Given the description of an element on the screen output the (x, y) to click on. 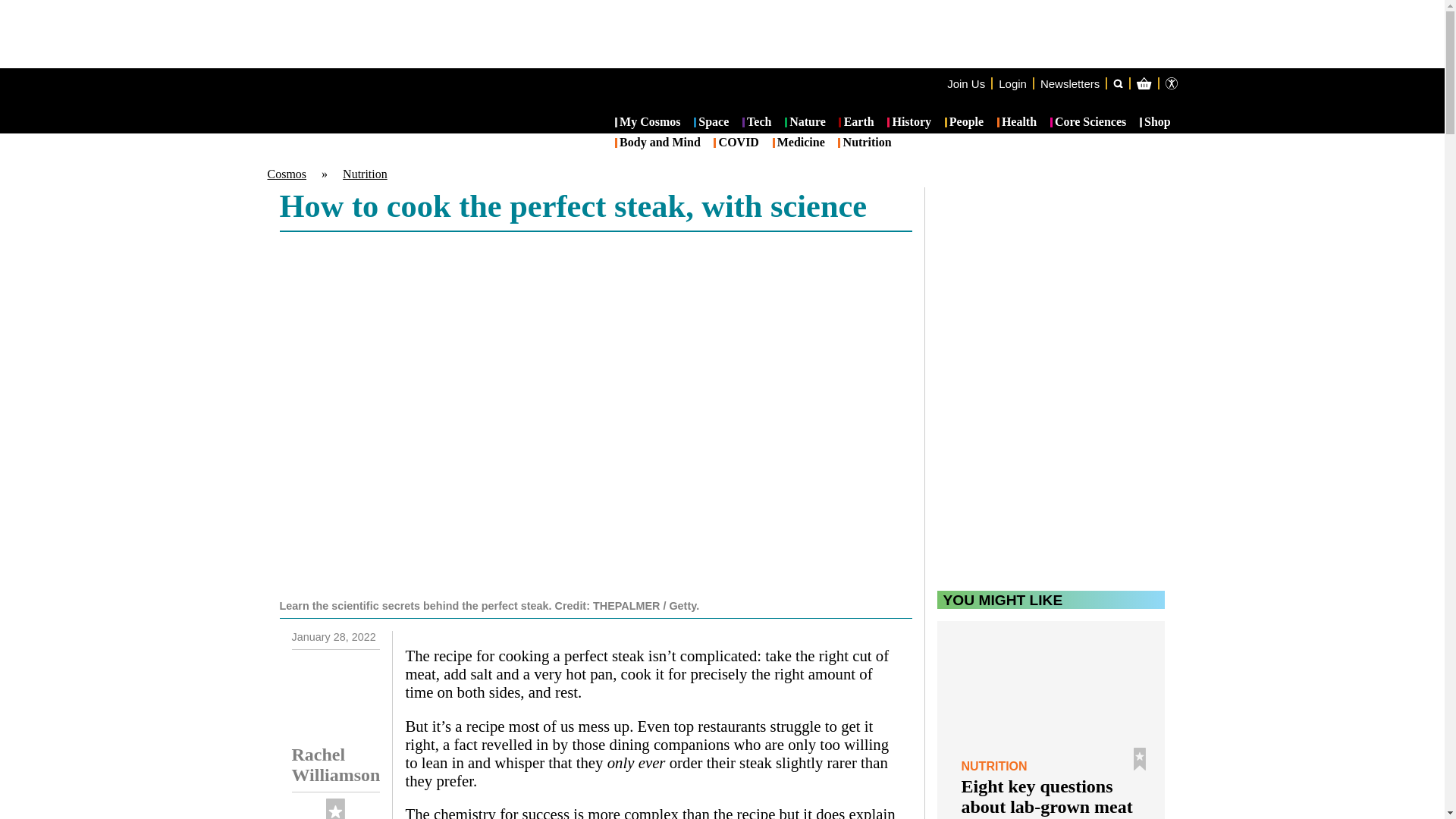
Body and Mind (657, 143)
COVID (735, 143)
Health (1016, 122)
Space (711, 122)
Nutrition (364, 173)
Shop (1155, 122)
Login (1012, 82)
Tech (756, 122)
Core Sciences (1087, 122)
People (964, 122)
